Given the description of an element on the screen output the (x, y) to click on. 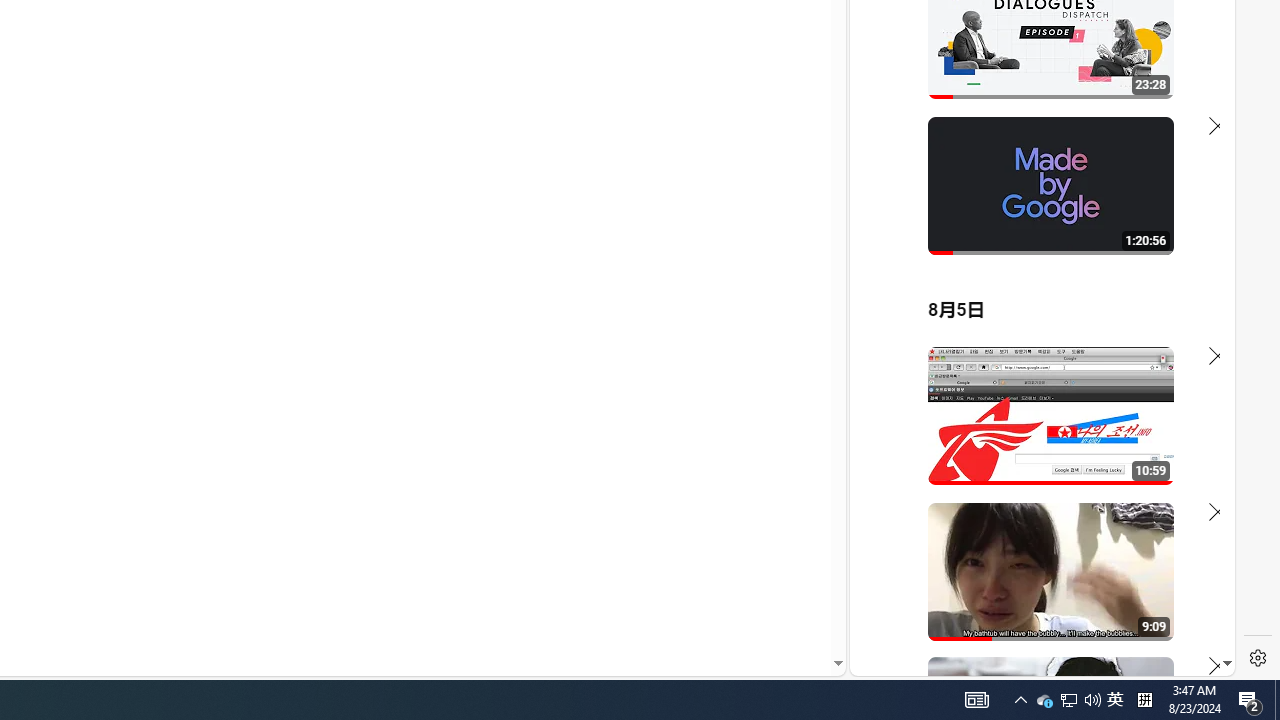
#you (1034, 439)
YouTube (1034, 432)
Actions for this site (1131, 443)
US[ju] (917, 660)
Global web icon (888, 432)
Class: dict_pnIcon rms_img (1028, 660)
Click to scroll right (1196, 83)
YouTube - YouTube (1034, 266)
you (1034, 609)
